Given the description of an element on the screen output the (x, y) to click on. 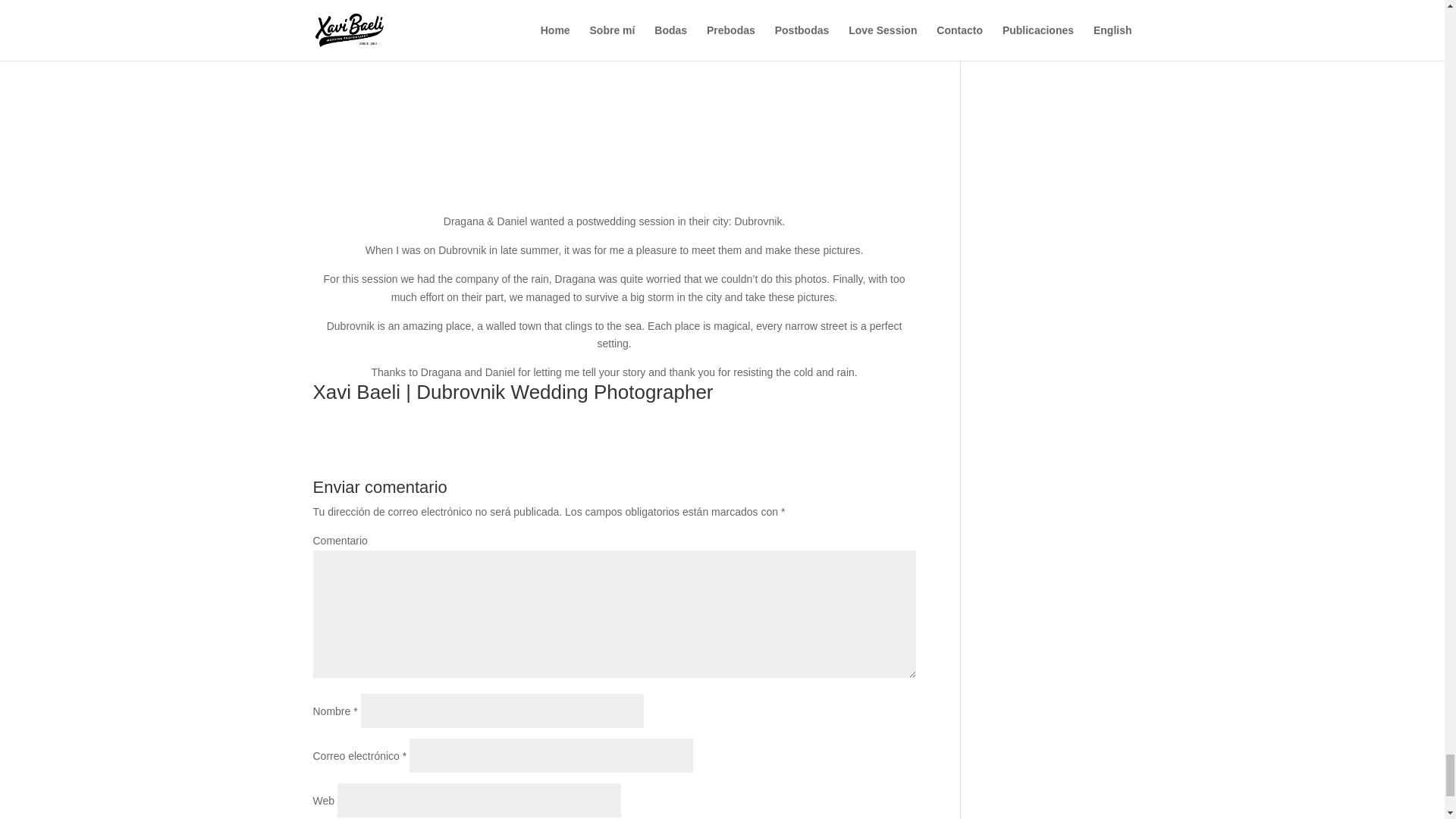
Dubrovnik wedding photographer (614, 101)
